Given the description of an element on the screen output the (x, y) to click on. 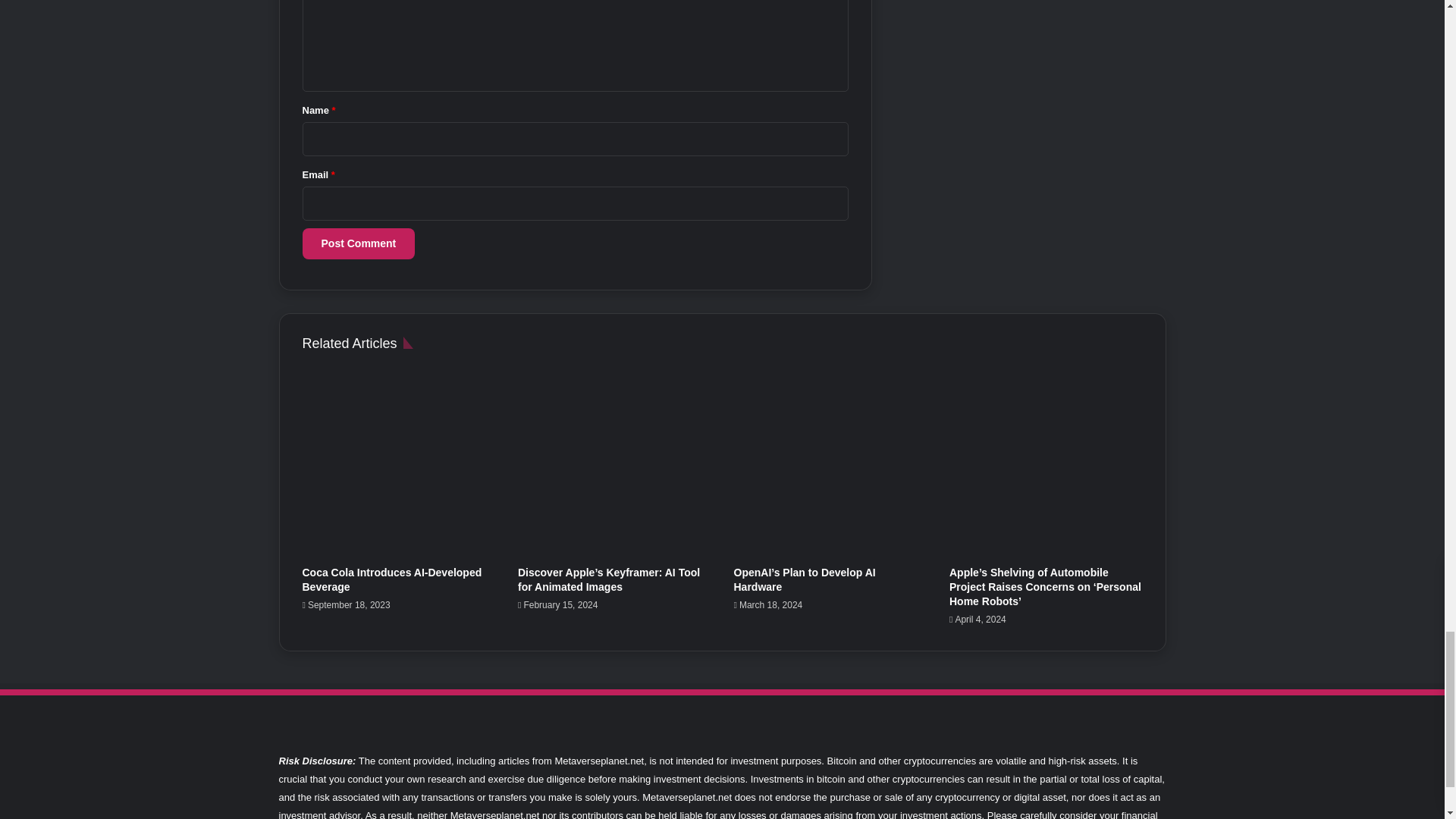
Post Comment (357, 243)
